Given the description of an element on the screen output the (x, y) to click on. 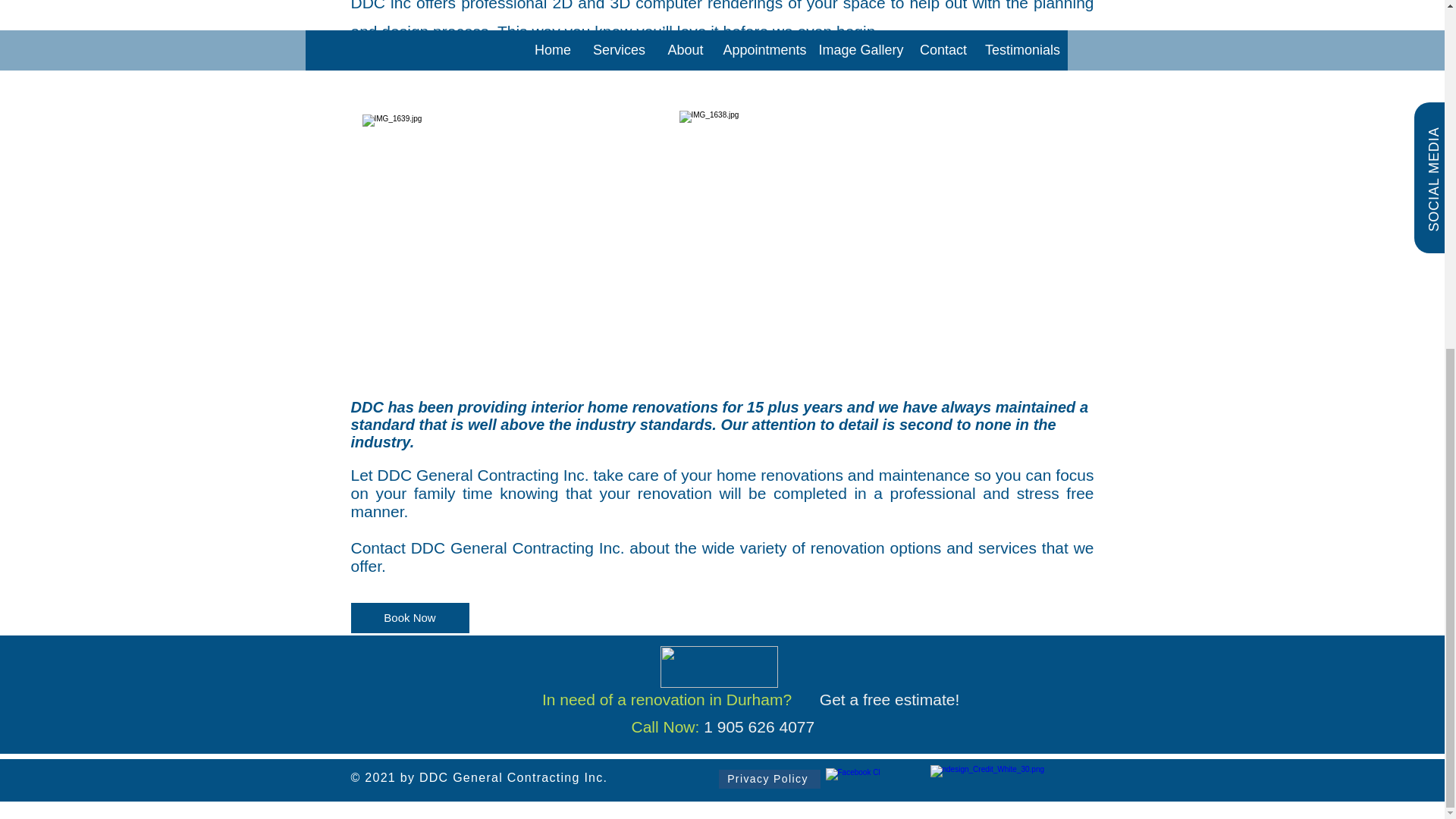
Call Now: 1 905 626 4077 (721, 726)
Book Now (409, 617)
Privacy Policy (770, 778)
Get a free estimate!  (891, 699)
